Given the description of an element on the screen output the (x, y) to click on. 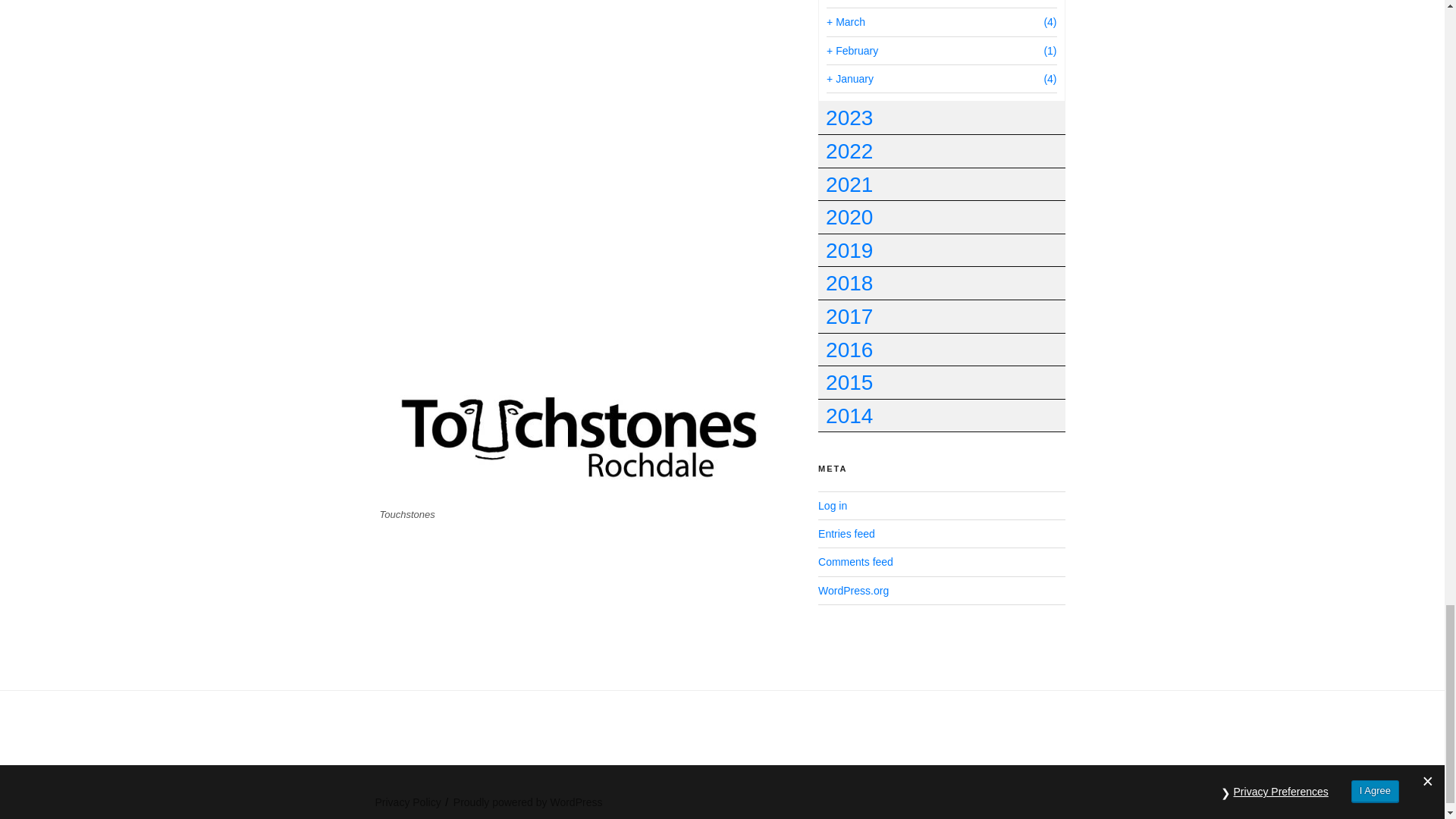
2023 (941, 118)
